Given the description of an element on the screen output the (x, y) to click on. 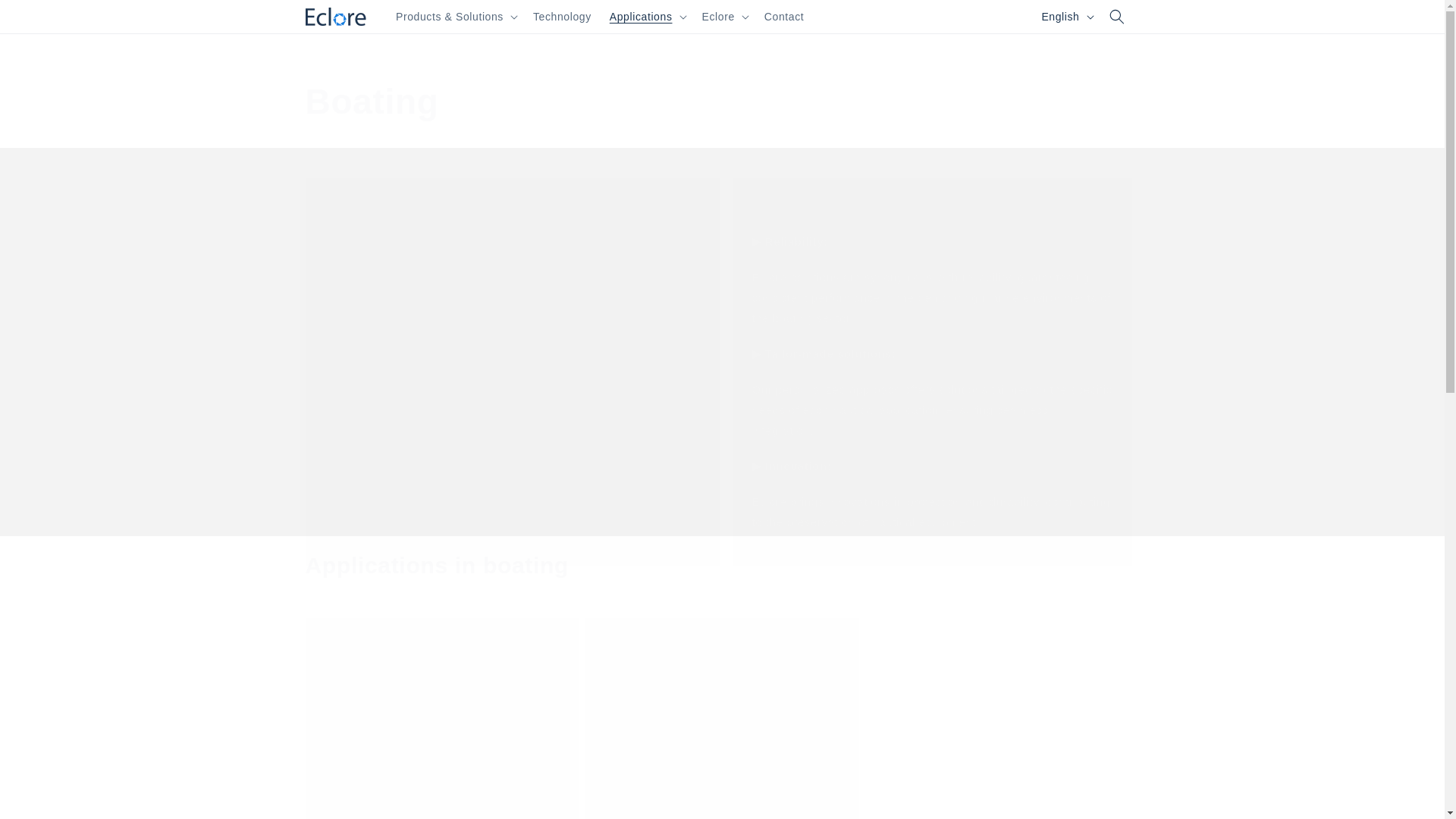
Applications in boating (436, 565)
Skip to content (45, 17)
Boating (600, 101)
